Given the description of an element on the screen output the (x, y) to click on. 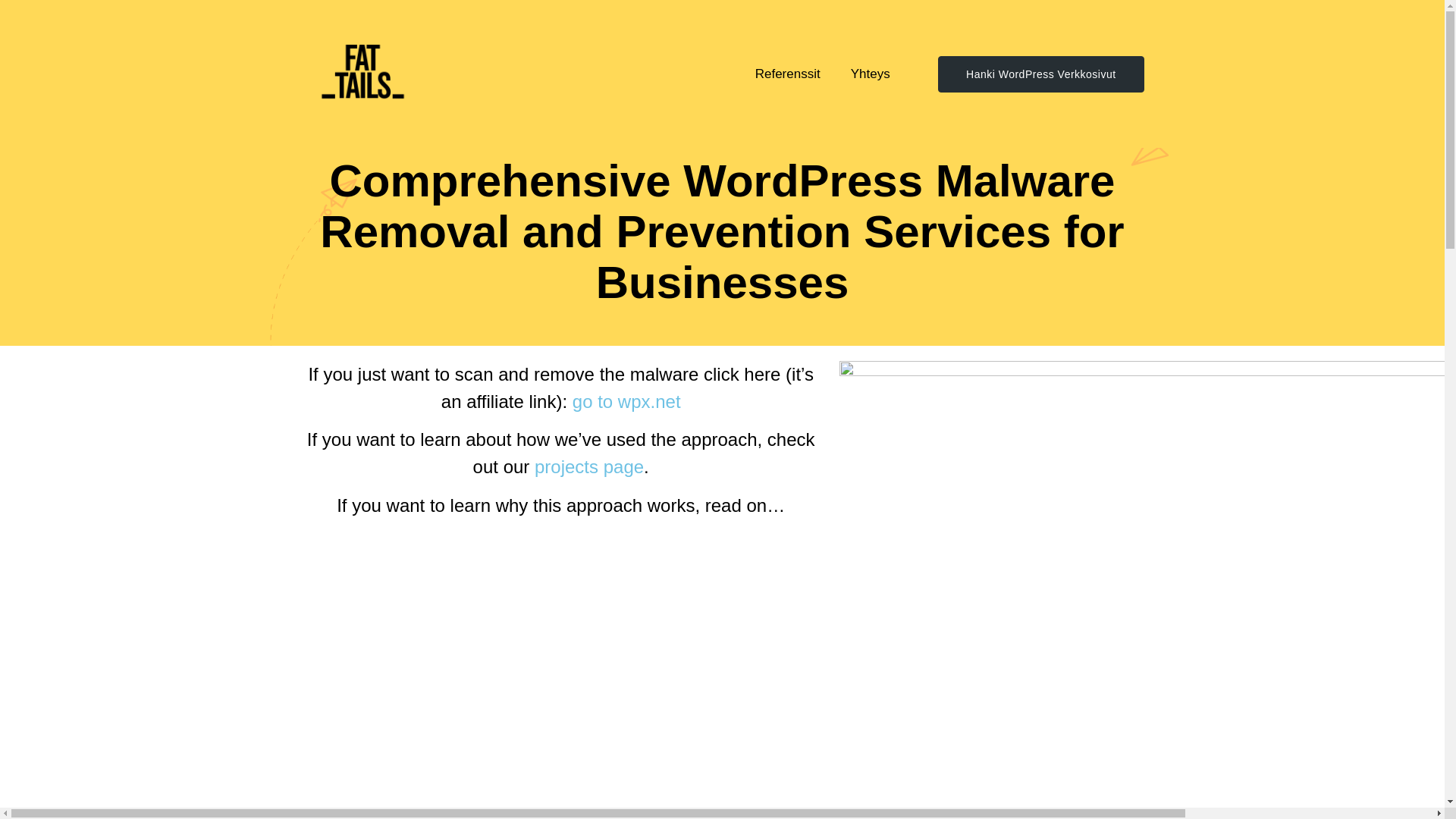
Hanki WordPress Verkkosivut (1040, 74)
Yhteys (870, 73)
Referenssit (787, 73)
projects page (588, 466)
go to wpx.net (626, 401)
